Given the description of an element on the screen output the (x, y) to click on. 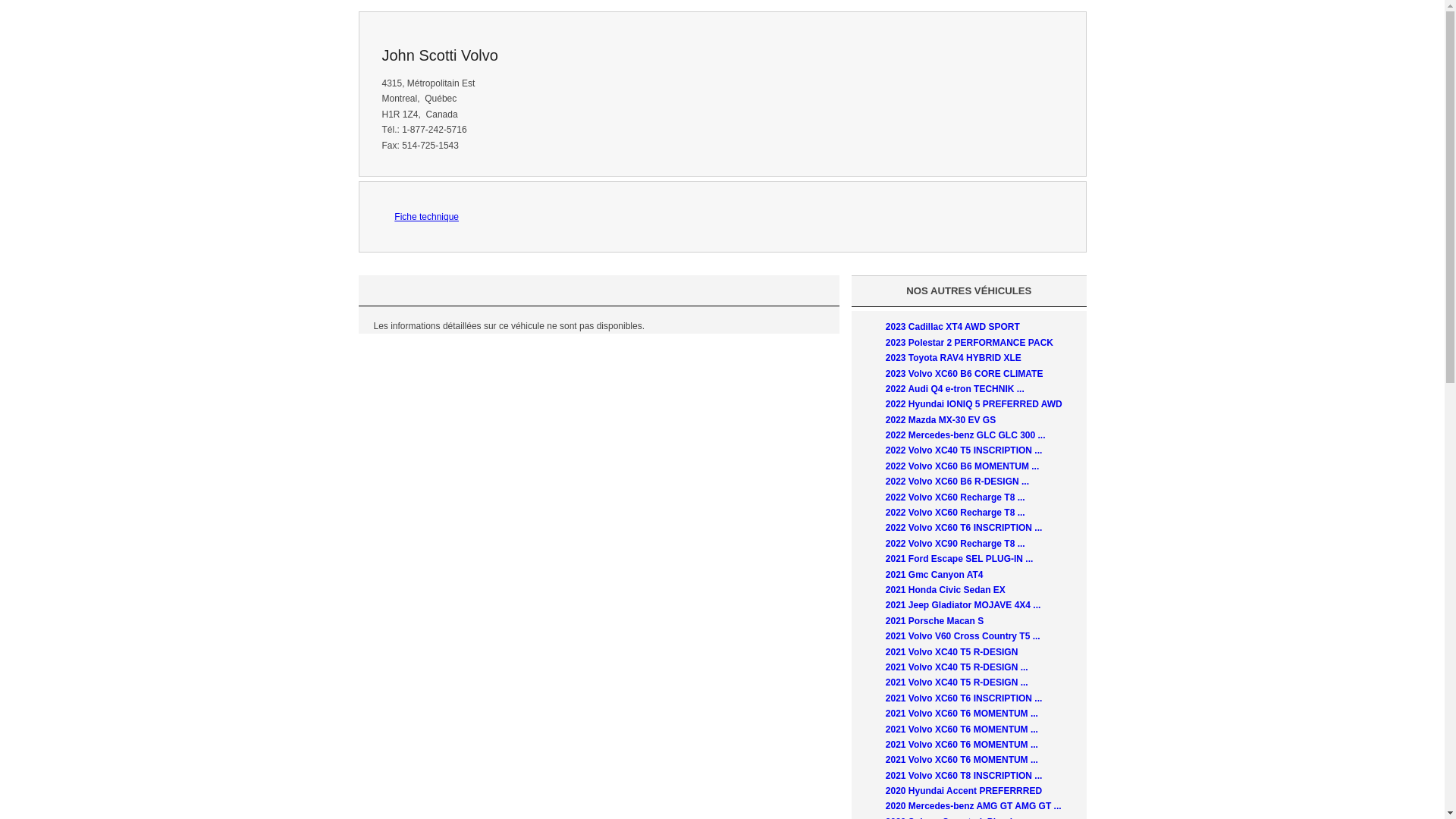
Fiche technique Element type: text (426, 216)
2022 Volvo XC60 B6 R-DESIGN ... Element type: text (957, 481)
2021 Volvo XC40 T5 R-DESIGN ... Element type: text (956, 682)
2021 Ford Escape SEL PLUG-IN ... Element type: text (959, 558)
2021 Volvo XC60 T6 MOMENTUM ... Element type: text (961, 759)
2022 Volvo XC90 Recharge T8 ... Element type: text (955, 543)
2021 Volvo XC60 T6 MOMENTUM ... Element type: text (961, 744)
2021 Volvo XC60 T6 MOMENTUM ... Element type: text (961, 713)
2021 Volvo XC60 T8 INSCRIPTION ... Element type: text (963, 775)
2021 Jeep Gladiator MOJAVE 4X4 ... Element type: text (963, 604)
2022 Mazda MX-30 EV GS Element type: text (940, 419)
2020 Hyundai Accent PREFERRRED Element type: text (963, 790)
2023 Toyota RAV4 HYBRID XLE Element type: text (953, 357)
2021 Honda Civic Sedan EX Element type: text (945, 589)
2022 Mercedes-benz GLC GLC 300 ... Element type: text (965, 434)
2022 Volvo XC60 Recharge T8 ... Element type: text (955, 512)
2021 Volvo XC60 T6 INSCRIPTION ... Element type: text (963, 698)
2022 Audi Q4 e-tron TECHNIK ... Element type: text (954, 388)
2022 Volvo XC60 B6 MOMENTUM ... Element type: text (962, 466)
2021 Volvo XC40 T5 R-DESIGN Element type: text (951, 651)
2021 Volvo V60 Cross Country T5 ... Element type: text (962, 635)
2022 Volvo XC40 T5 INSCRIPTION ... Element type: text (963, 450)
2023 Volvo XC60 B6 CORE CLIMATE Element type: text (964, 373)
2022 Hyundai IONIQ 5 PREFERRED AWD Element type: text (973, 403)
2021 Volvo XC60 T6 MOMENTUM ... Element type: text (961, 728)
2021 Volvo XC40 T5 R-DESIGN ... Element type: text (956, 667)
2022 Volvo XC60 T6 INSCRIPTION ... Element type: text (963, 527)
2021 Gmc Canyon AT4 Element type: text (934, 574)
2023 Cadillac XT4 AWD SPORT Element type: text (952, 326)
2021 Porsche Macan S Element type: text (934, 620)
2023 Polestar 2 PERFORMANCE PACK Element type: text (969, 342)
2020 Mercedes-benz AMG GT AMG GT ... Element type: text (973, 805)
2022 Volvo XC60 Recharge T8 ... Element type: text (955, 497)
